Given the description of an element on the screen output the (x, y) to click on. 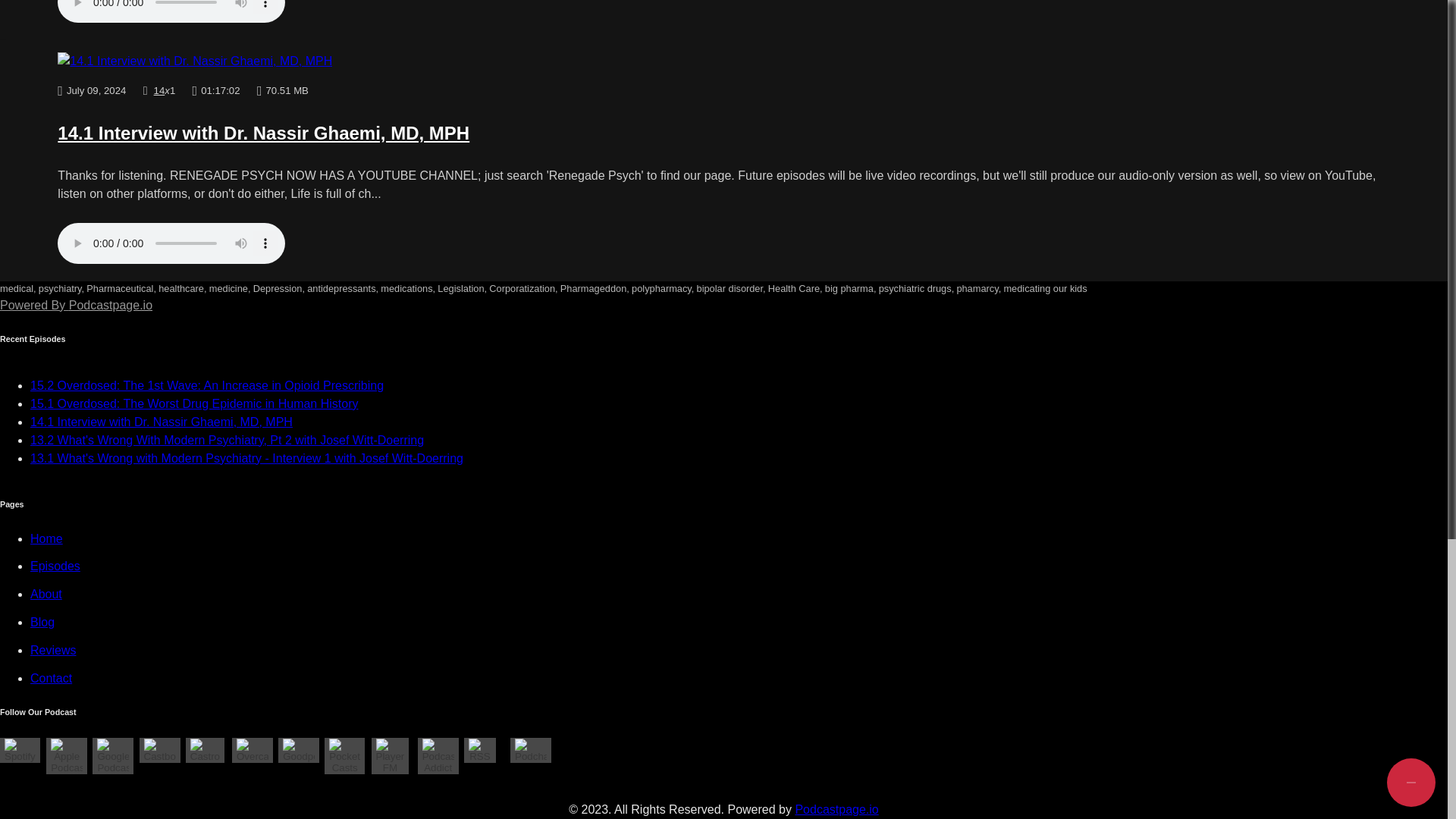
14 (159, 90)
14.1 Interview with Dr. Nassir Ghaemi, MD, MPH (263, 132)
